Given the description of an element on the screen output the (x, y) to click on. 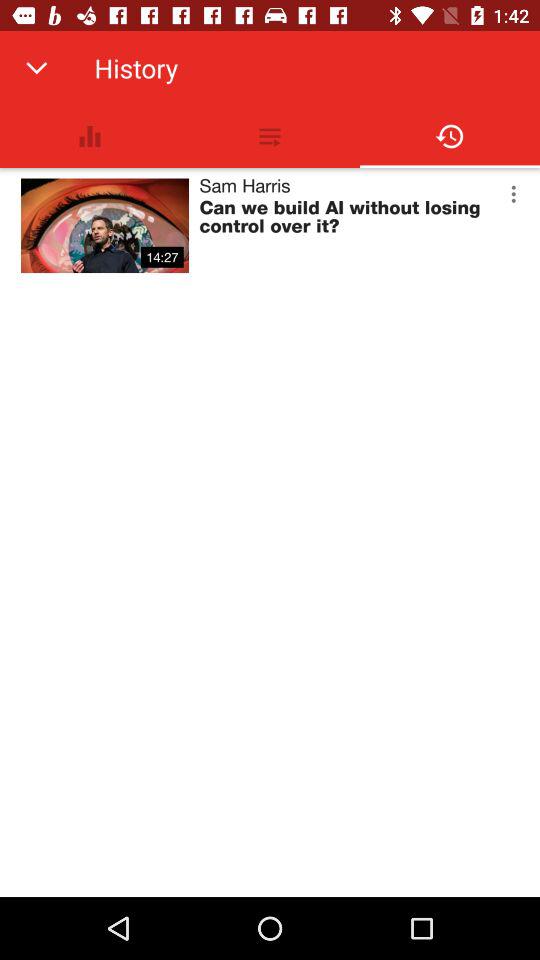
click the icon to the right of the sam harris item (513, 194)
